Given the description of an element on the screen output the (x, y) to click on. 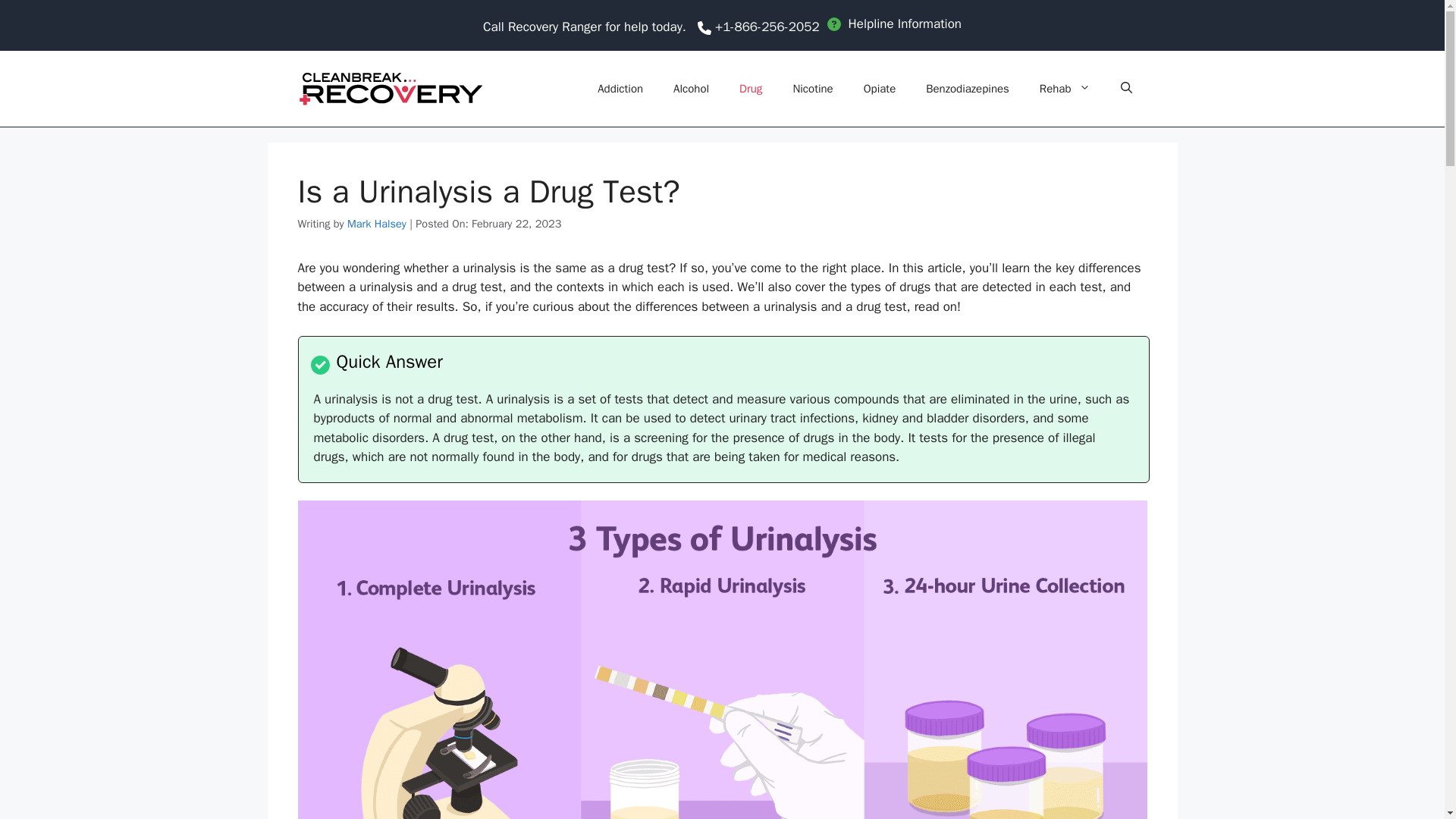
Mark Halsey (376, 223)
Alcohol (690, 87)
View all posts by Mark Halsey (376, 223)
Drug (750, 87)
Helpline Information (893, 23)
Rehab (1065, 87)
Nicotine (812, 87)
Opiate (879, 87)
Addiction (620, 87)
Benzodiazepines (968, 87)
